Given the description of an element on the screen output the (x, y) to click on. 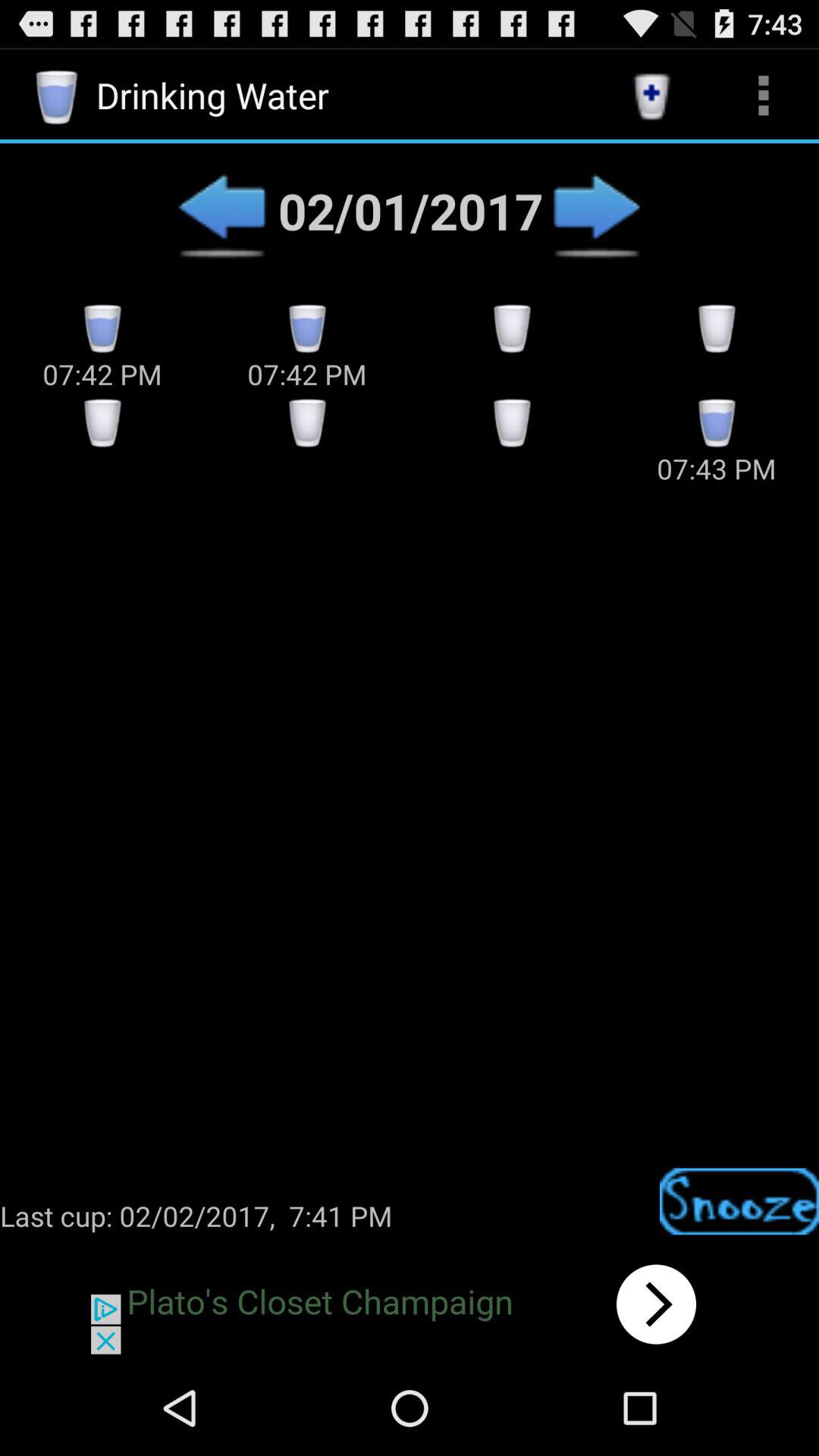
go back (221, 210)
